Given the description of an element on the screen output the (x, y) to click on. 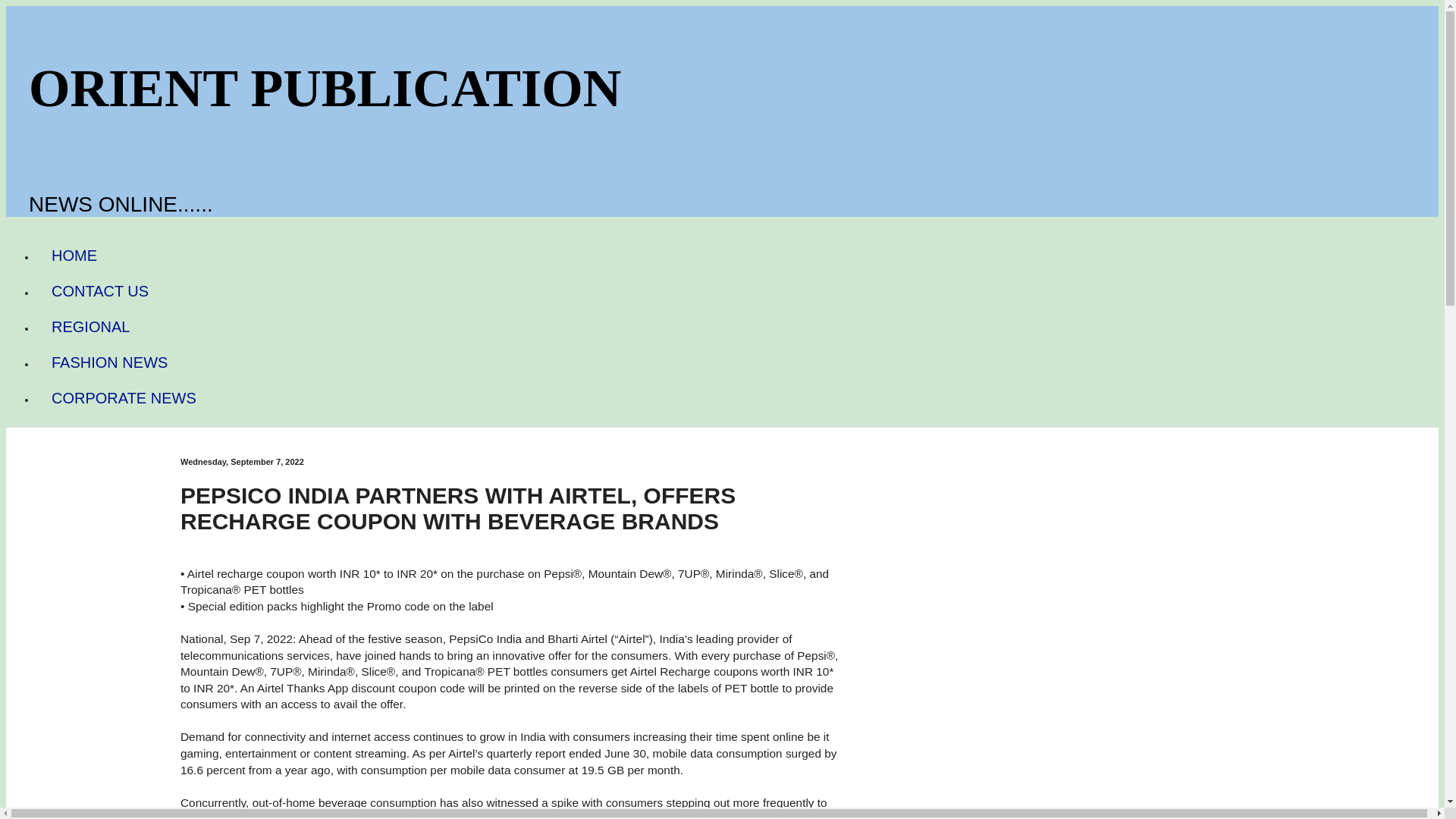
FASHION NEWS (109, 362)
REGIONAL (90, 326)
CORPORATE NEWS (123, 398)
HOME (74, 255)
ORIENT PUBLICATION (325, 87)
CONTACT US (99, 291)
